Given the description of an element on the screen output the (x, y) to click on. 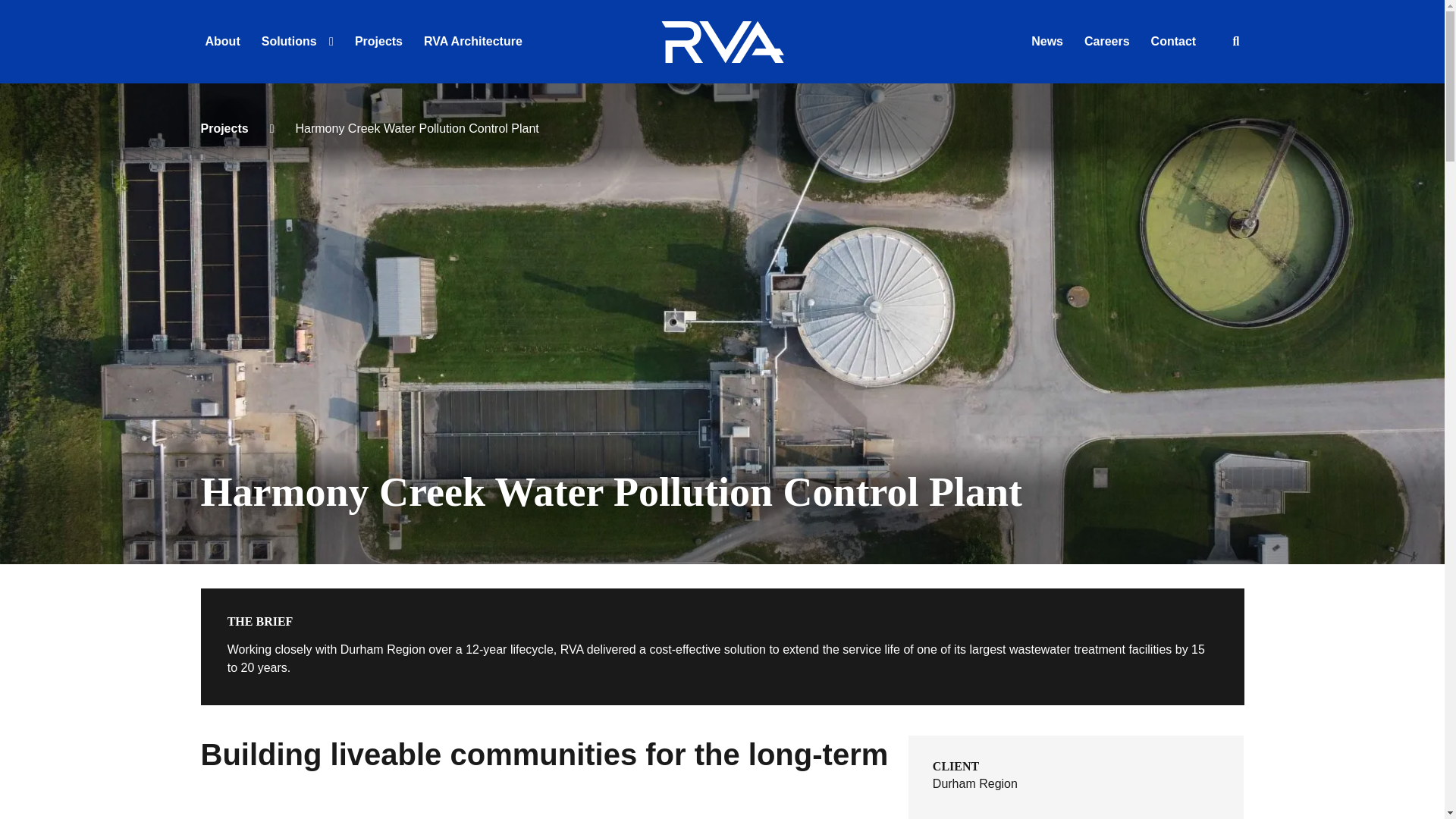
Solutions (290, 41)
Harmony Creek Water Pollution Control Plant (544, 803)
About (222, 41)
